Given the description of an element on the screen output the (x, y) to click on. 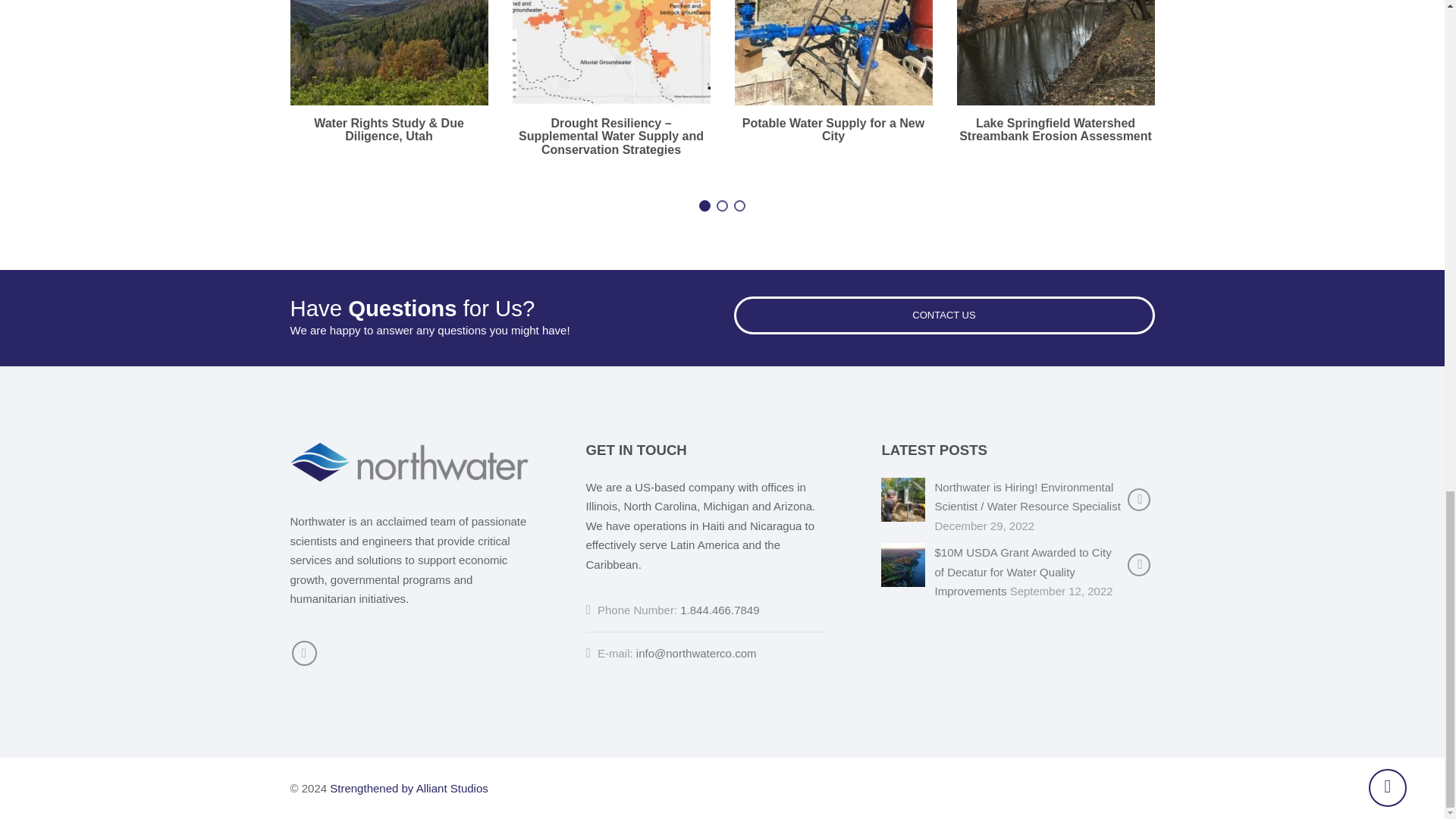
Potable Water Supply for a New City (833, 130)
Lake Springfield Watershed Streambank Erosion Assessment (1055, 130)
